Given the description of an element on the screen output the (x, y) to click on. 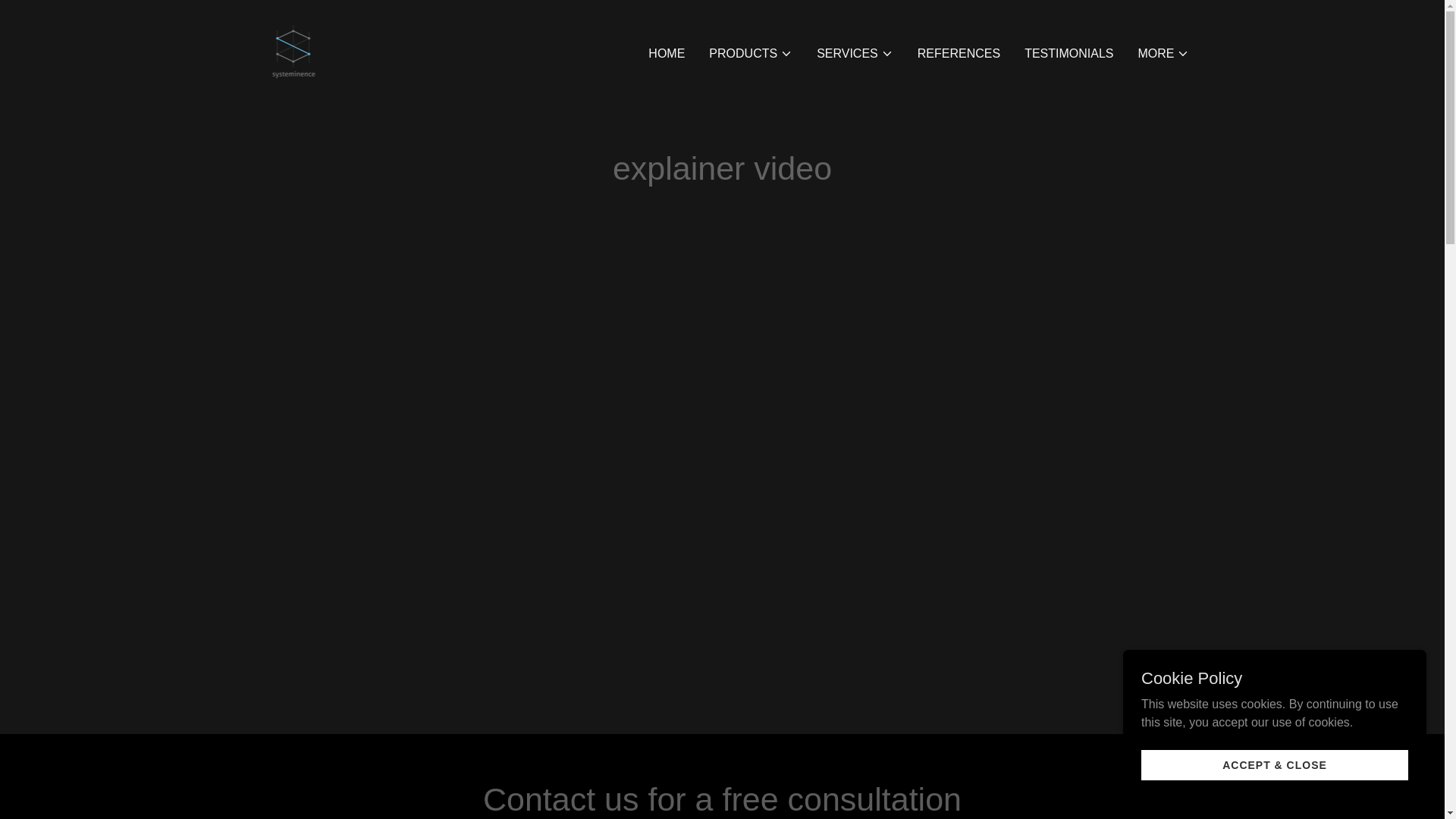
Systeminence (292, 50)
PRODUCTS (750, 53)
REFERENCES (958, 52)
SERVICES (854, 53)
MORE (1163, 53)
TESTIMONIALS (1069, 52)
HOME (665, 52)
